Given the description of an element on the screen output the (x, y) to click on. 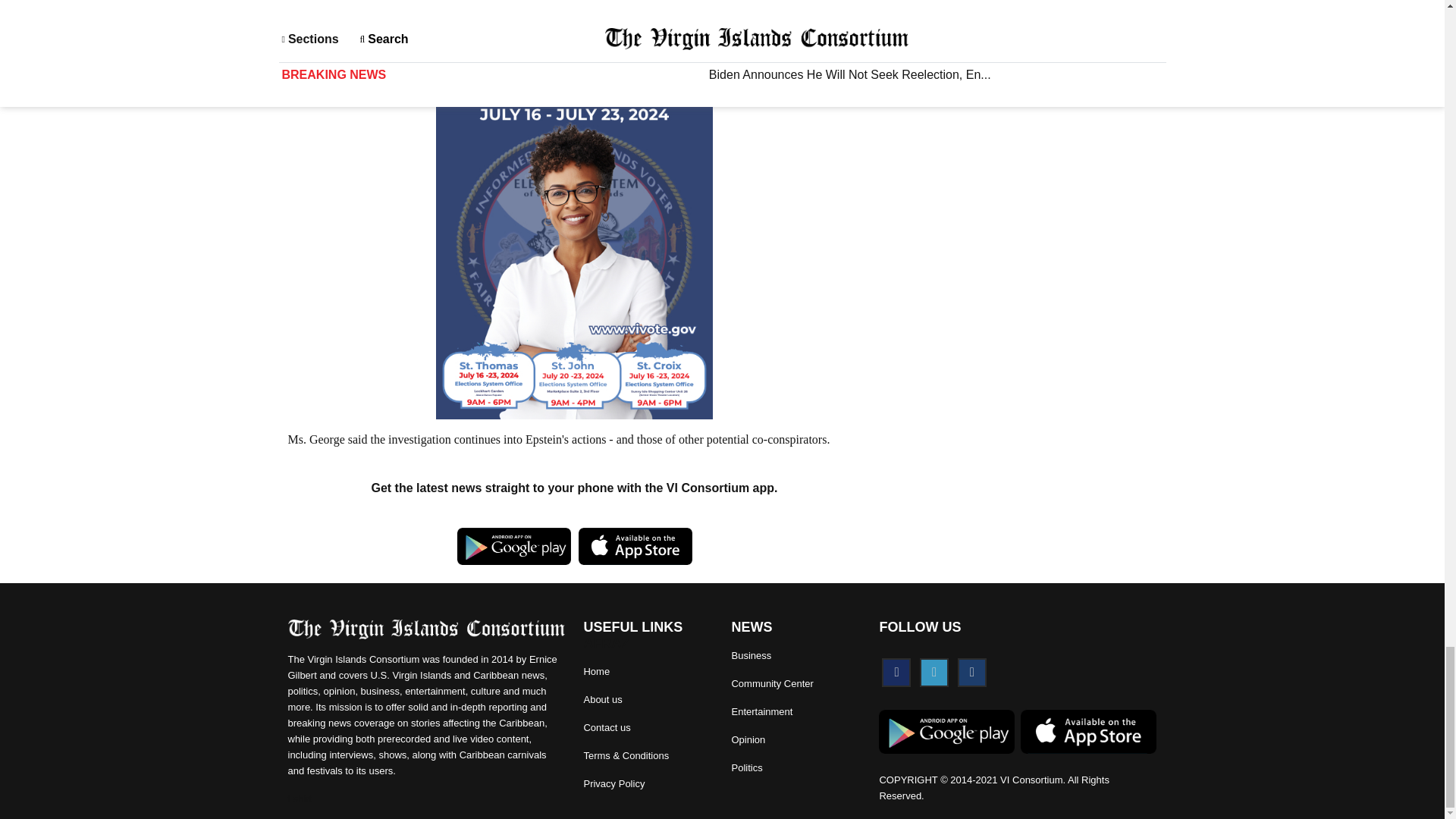
Facebook (896, 672)
